Given the description of an element on the screen output the (x, y) to click on. 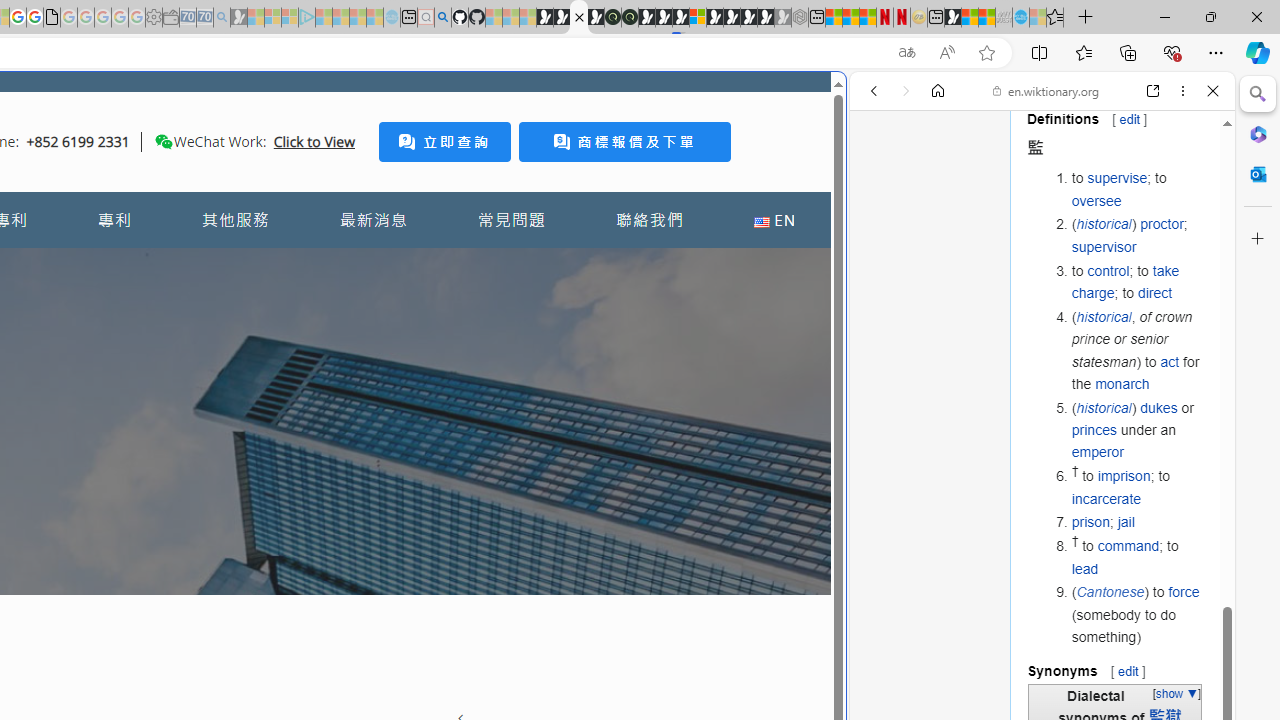
Earth has six continents not seven, radical new study claims (986, 17)
Wallet - Sleeping (170, 17)
EN (774, 220)
historical (1103, 407)
Split screen (1039, 52)
Read aloud this page (Ctrl+Shift+U) (946, 53)
command (1127, 546)
dukes (1158, 407)
Microsoft Start - Sleeping (357, 17)
Sign in to your account (697, 17)
en.wiktionary.org (1046, 90)
Navy Quest (1003, 17)
